Given the description of an element on the screen output the (x, y) to click on. 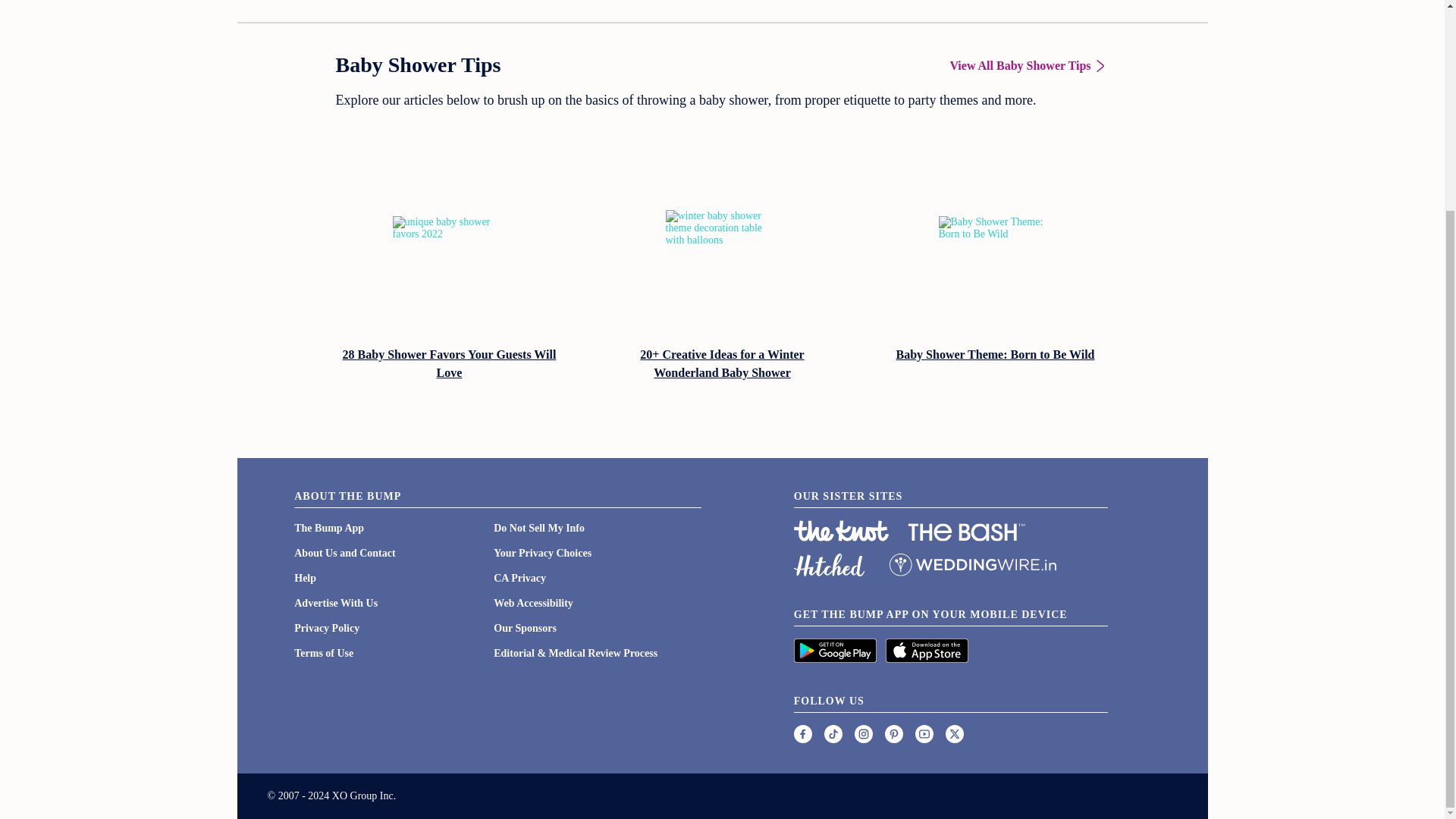
Web Accessibility (533, 603)
The Bump App (329, 527)
Advertise With Us (335, 603)
Do Not Sell My Info (539, 527)
Our Sponsors (524, 627)
CA Privacy (519, 577)
Terms of Use (323, 653)
About Us and Contact (344, 552)
View All Baby Shower Tips (1028, 65)
Privacy Policy (326, 627)
